Given the description of an element on the screen output the (x, y) to click on. 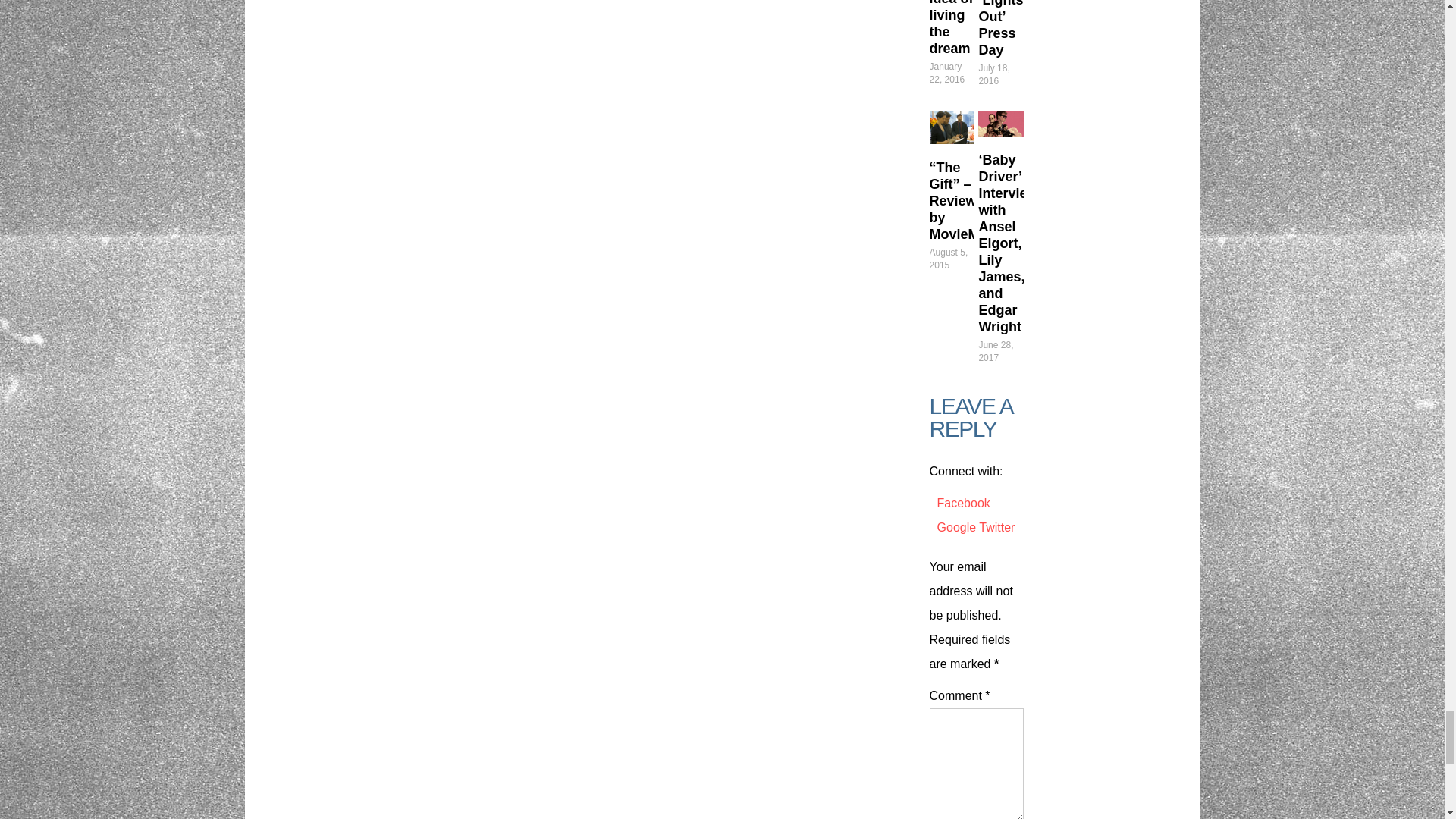
Connect with Facebook (963, 502)
Connect with Google (958, 526)
Connect with Twitter (996, 526)
